Given the description of an element on the screen output the (x, y) to click on. 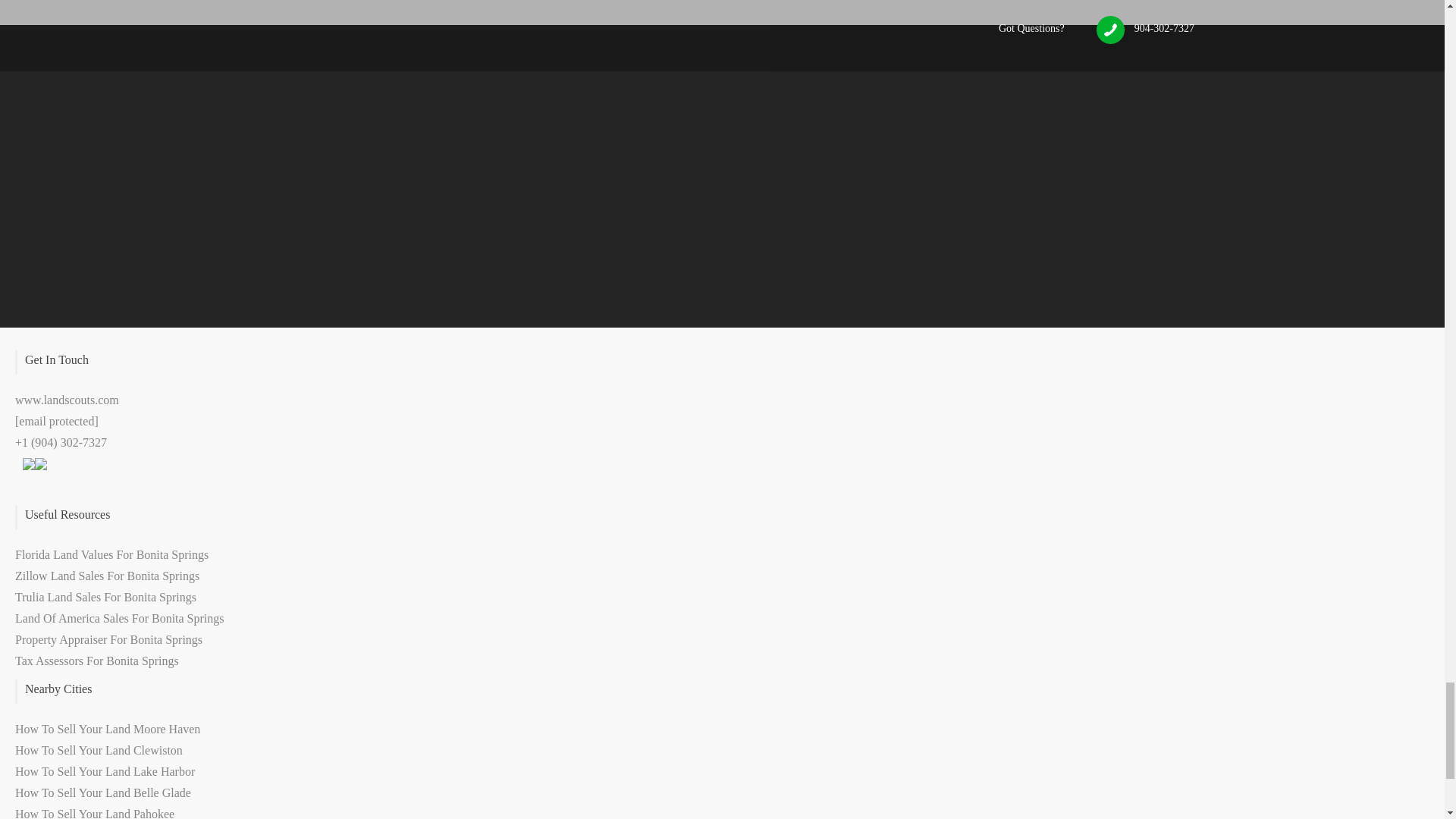
Land Of America Sales For Bonita Springs (119, 617)
How To Sell Your Land Lake Harbor (104, 771)
www.landscouts.com (66, 399)
How To Sell Your Land Pahokee (94, 813)
Property Appraiser For Bonita Springs (108, 639)
Zillow Land Sales For Bonita Springs (106, 575)
Trulia Land Sales For Bonita Springs (105, 596)
How To Sell Your Land Belle Glade (102, 792)
Tax Assessors For Bonita Springs (96, 660)
How To Sell Your Land Clewiston (98, 749)
